Given the description of an element on the screen output the (x, y) to click on. 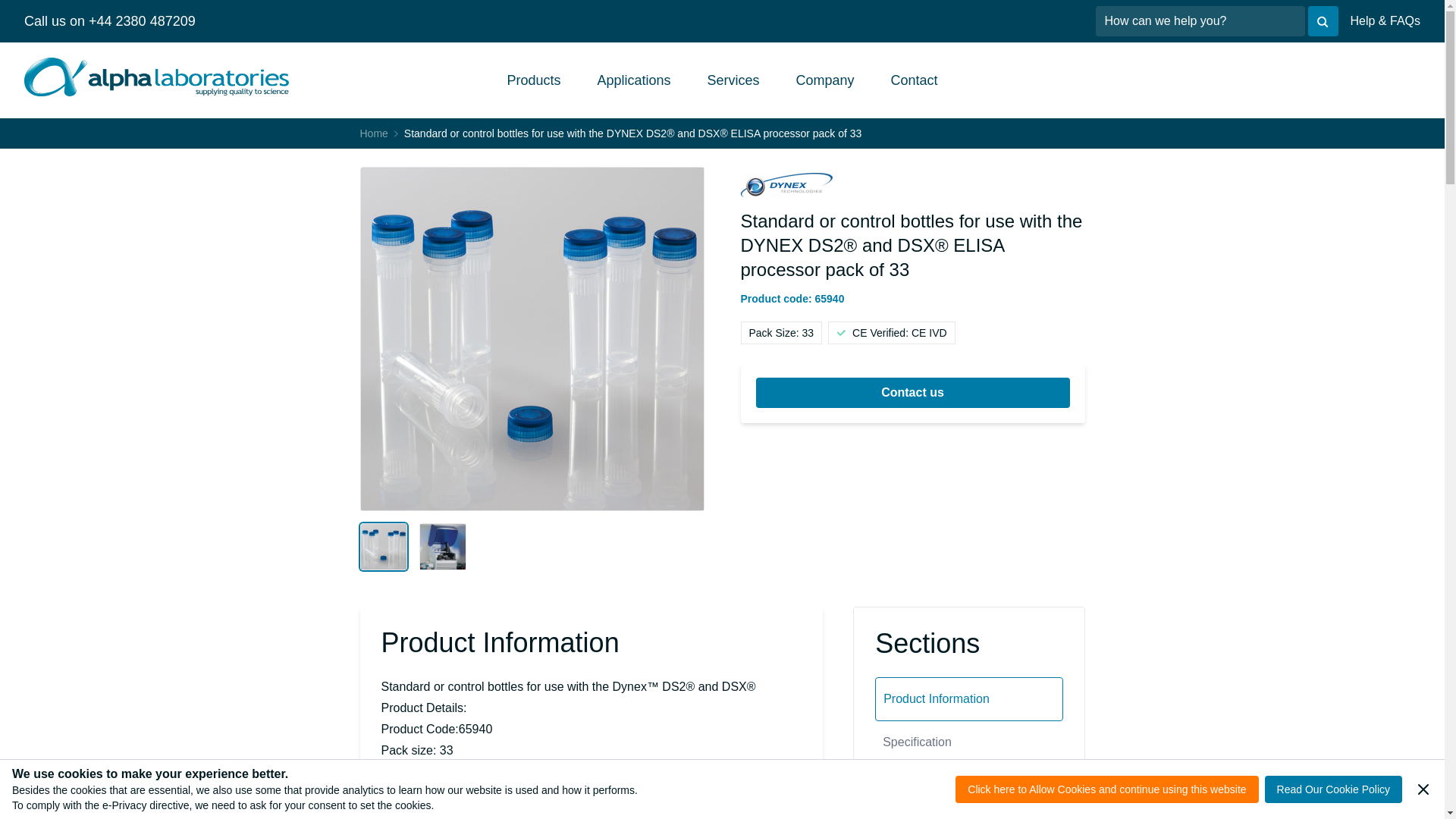
Read Our Cookie Policy (1333, 789)
Click here to Allow Cookies and continue using this website (1106, 789)
Go to Home Page (373, 133)
Products (533, 79)
